Given the description of an element on the screen output the (x, y) to click on. 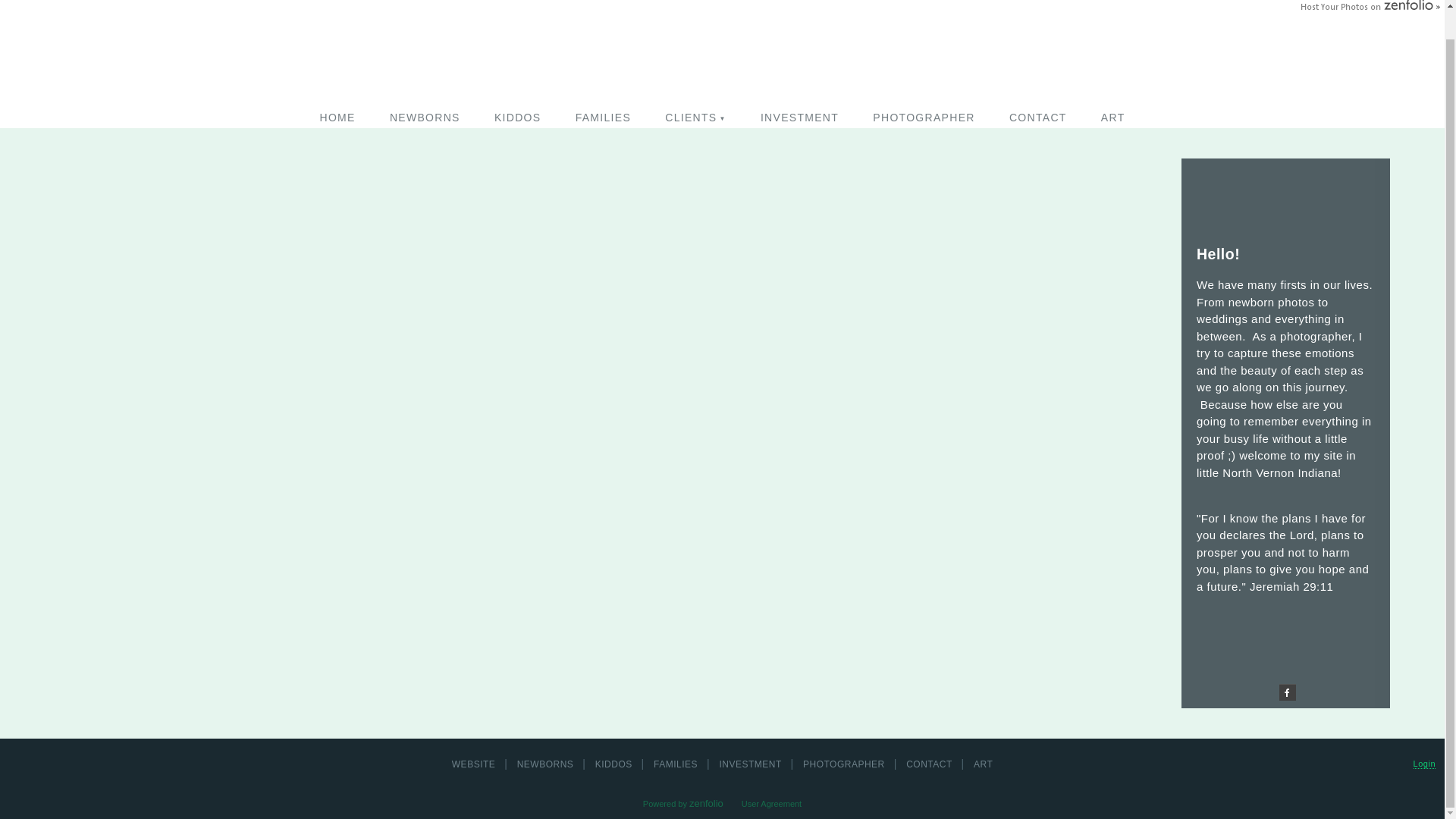
NEWBORNS (547, 764)
PHOTOGRAPHER (923, 117)
Whitehorse Design Photography (722, 7)
INVESTMENT (799, 117)
WEBSITE (474, 764)
CONTACT (1037, 117)
KIDDOS (517, 117)
ART (1113, 117)
NEWBORNS (425, 117)
HOME (336, 117)
FAMILIES (603, 117)
Login (1424, 763)
Whitehorse Design Photography (722, 7)
